Given the description of an element on the screen output the (x, y) to click on. 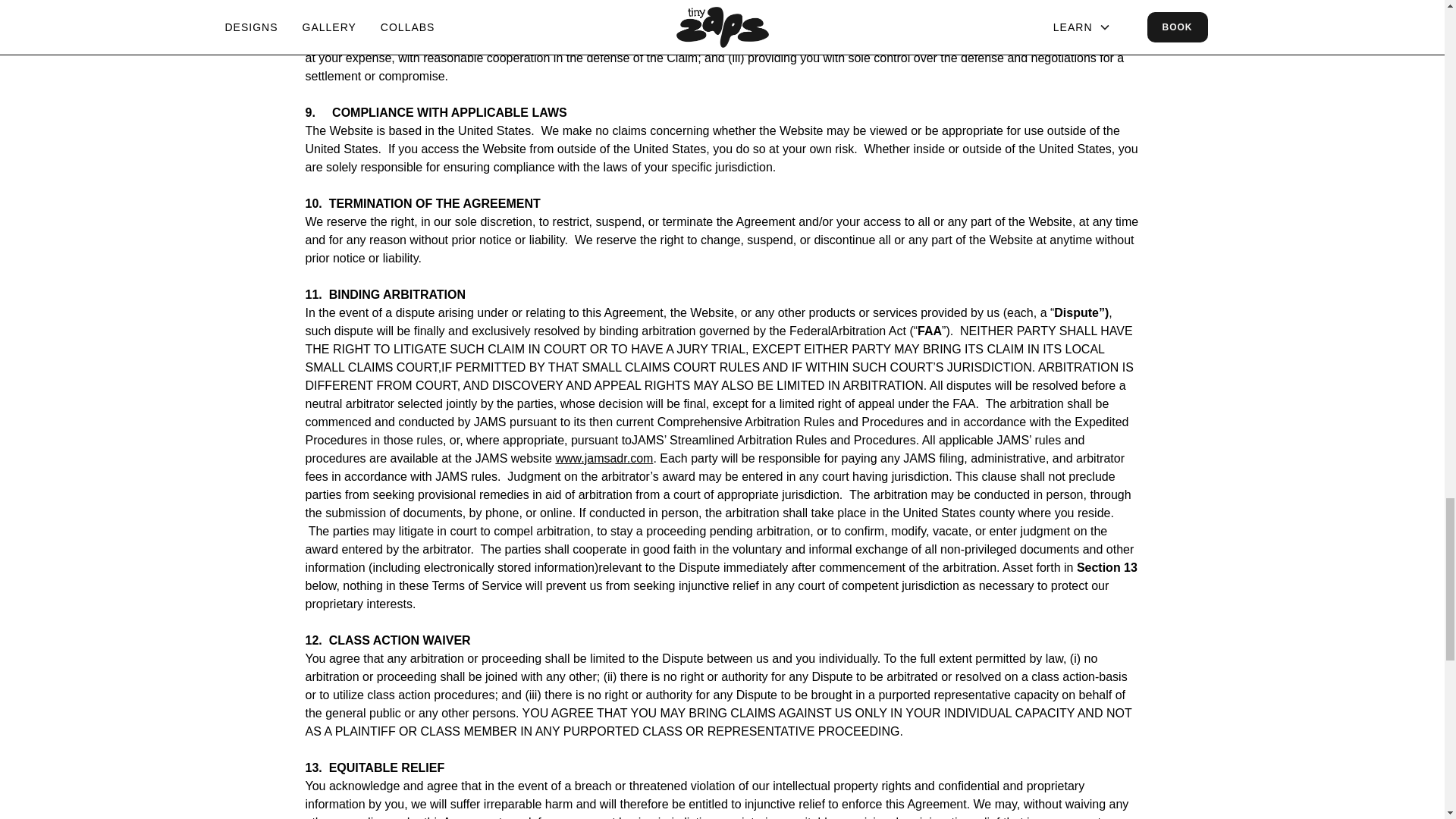
www.jamsadr.com (603, 458)
